Given the description of an element on the screen output the (x, y) to click on. 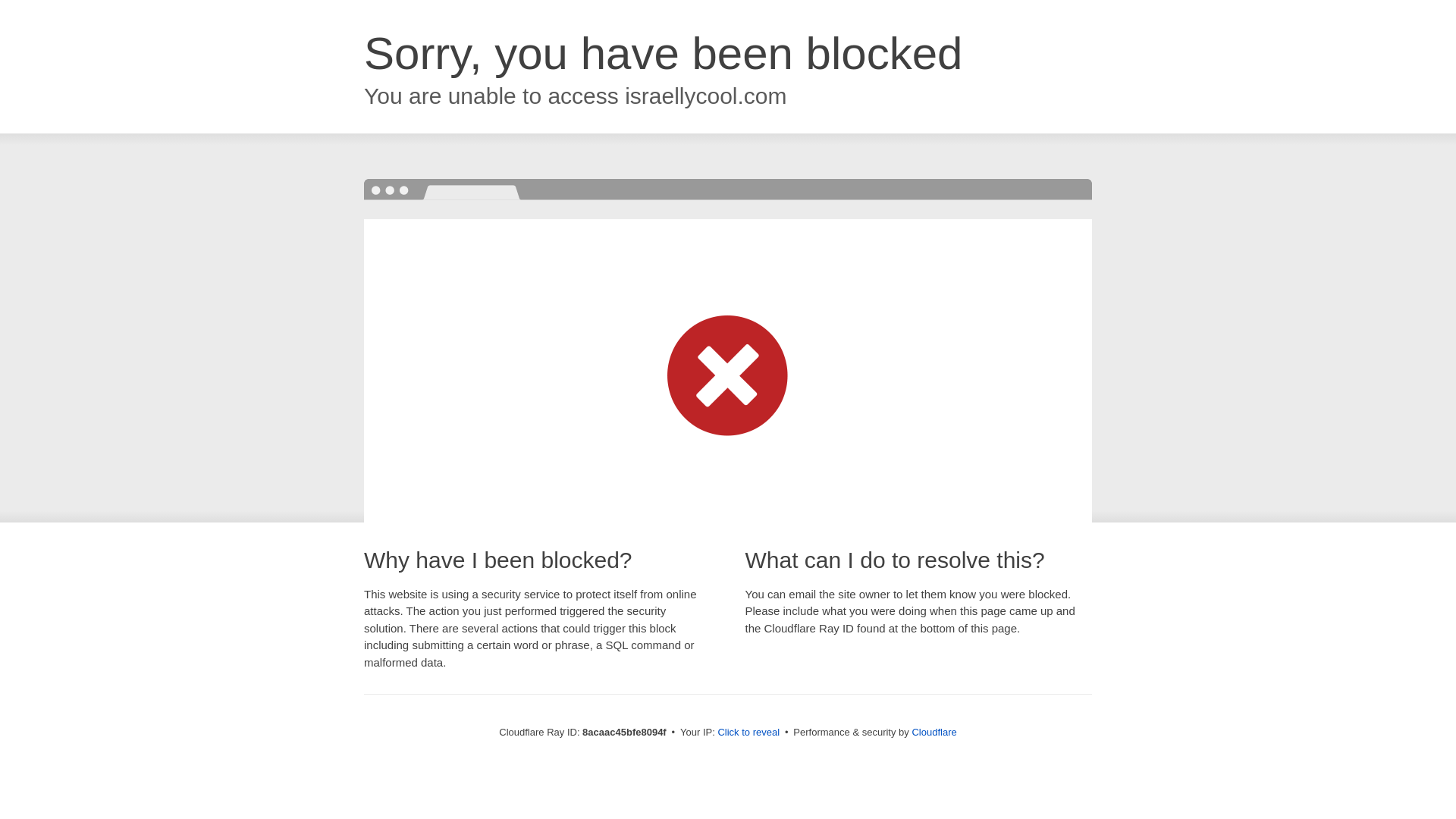
Click to reveal (747, 732)
Cloudflare (933, 731)
